Given the description of an element on the screen output the (x, y) to click on. 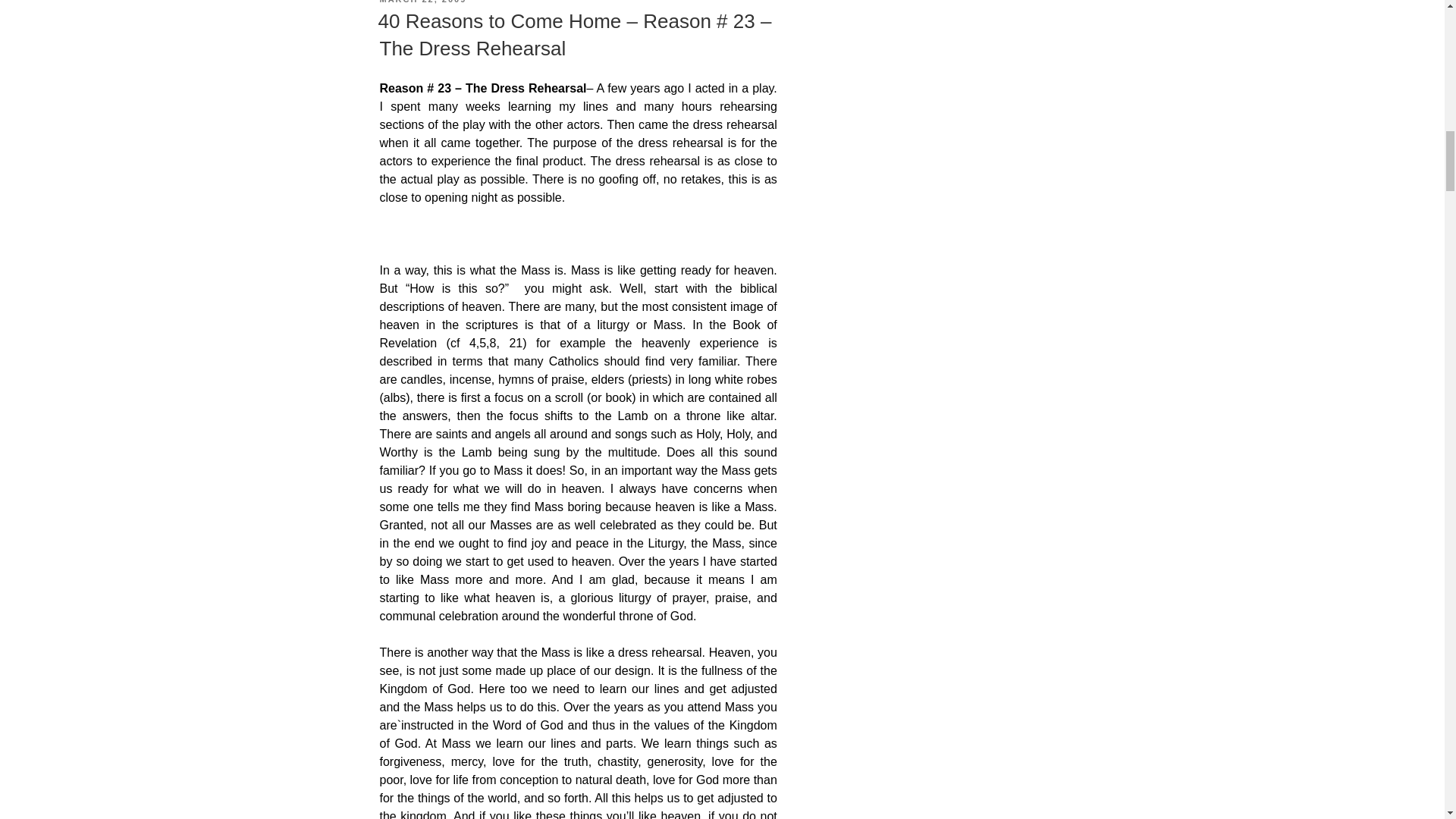
MARCH 22, 2009 (421, 2)
